Given the description of an element on the screen output the (x, y) to click on. 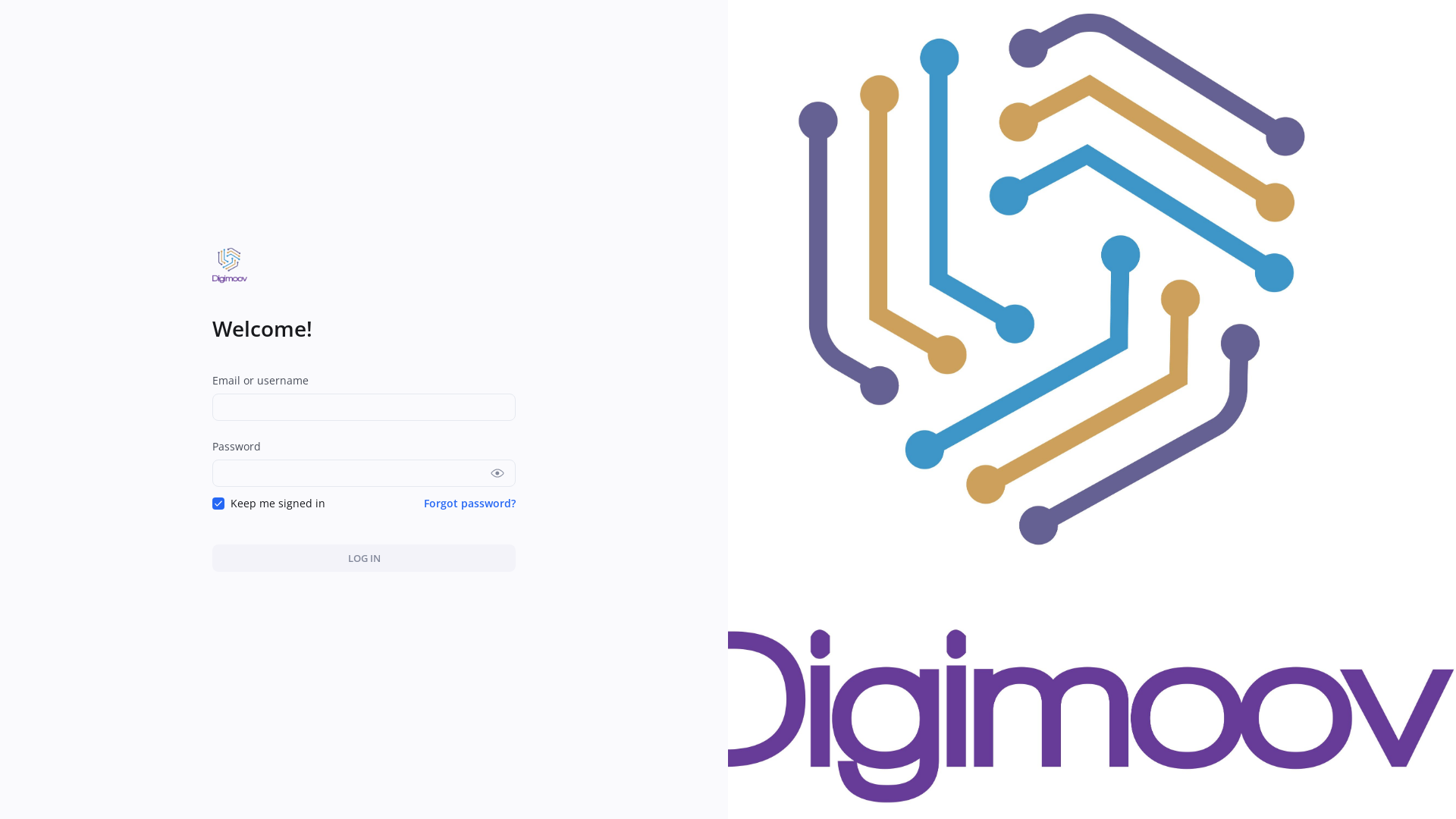
Forgot password? Element type: text (469, 502)
LOG IN Element type: text (363, 557)
